Given the description of an element on the screen output the (x, y) to click on. 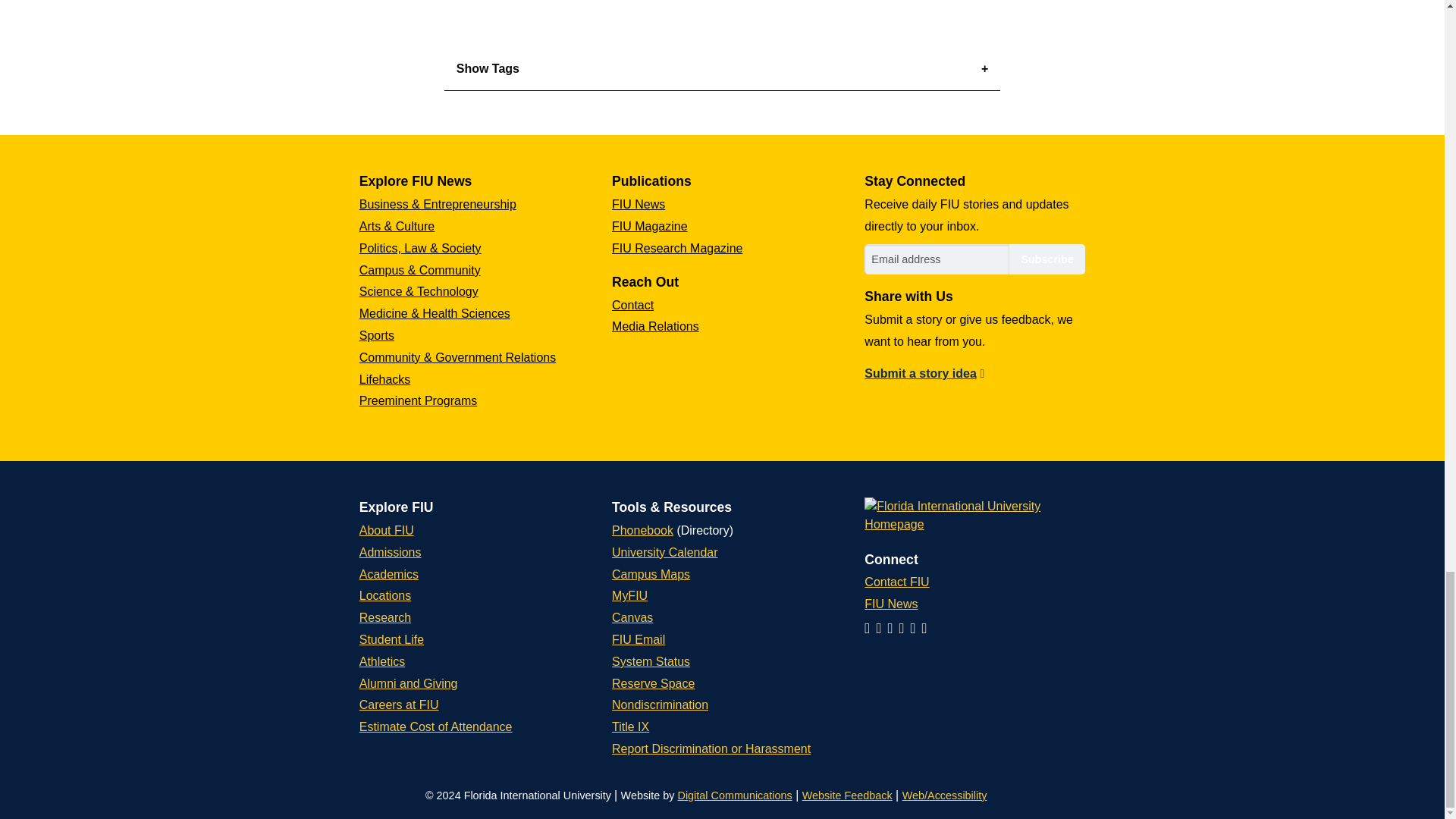
Preeminent Programs (418, 400)
Subscribe (1046, 259)
Lifehacks (384, 379)
Show Tags (722, 68)
FIU News (638, 204)
Sports (376, 335)
